Given the description of an element on the screen output the (x, y) to click on. 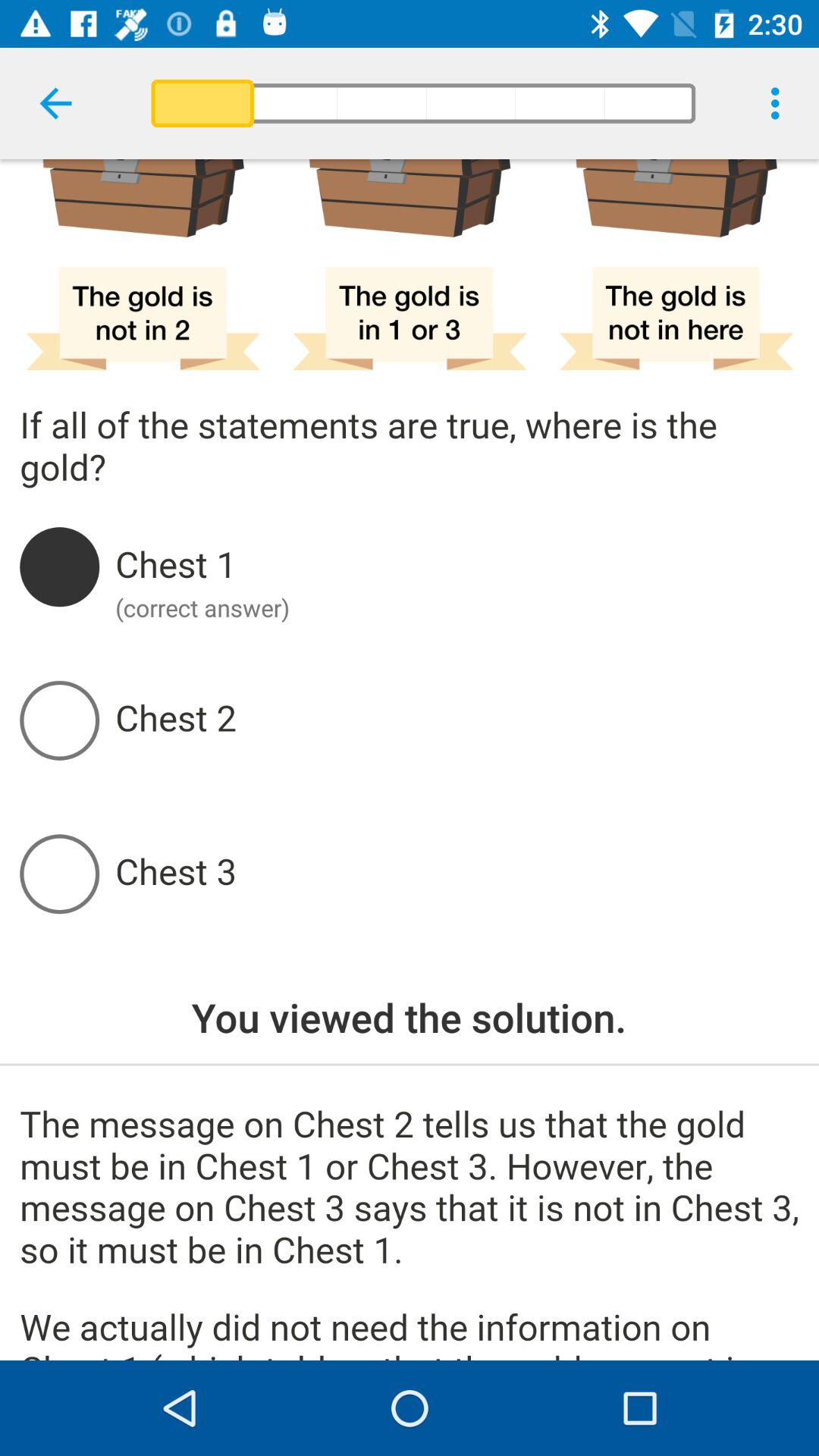
select the message (409, 1232)
